Given the description of an element on the screen output the (x, y) to click on. 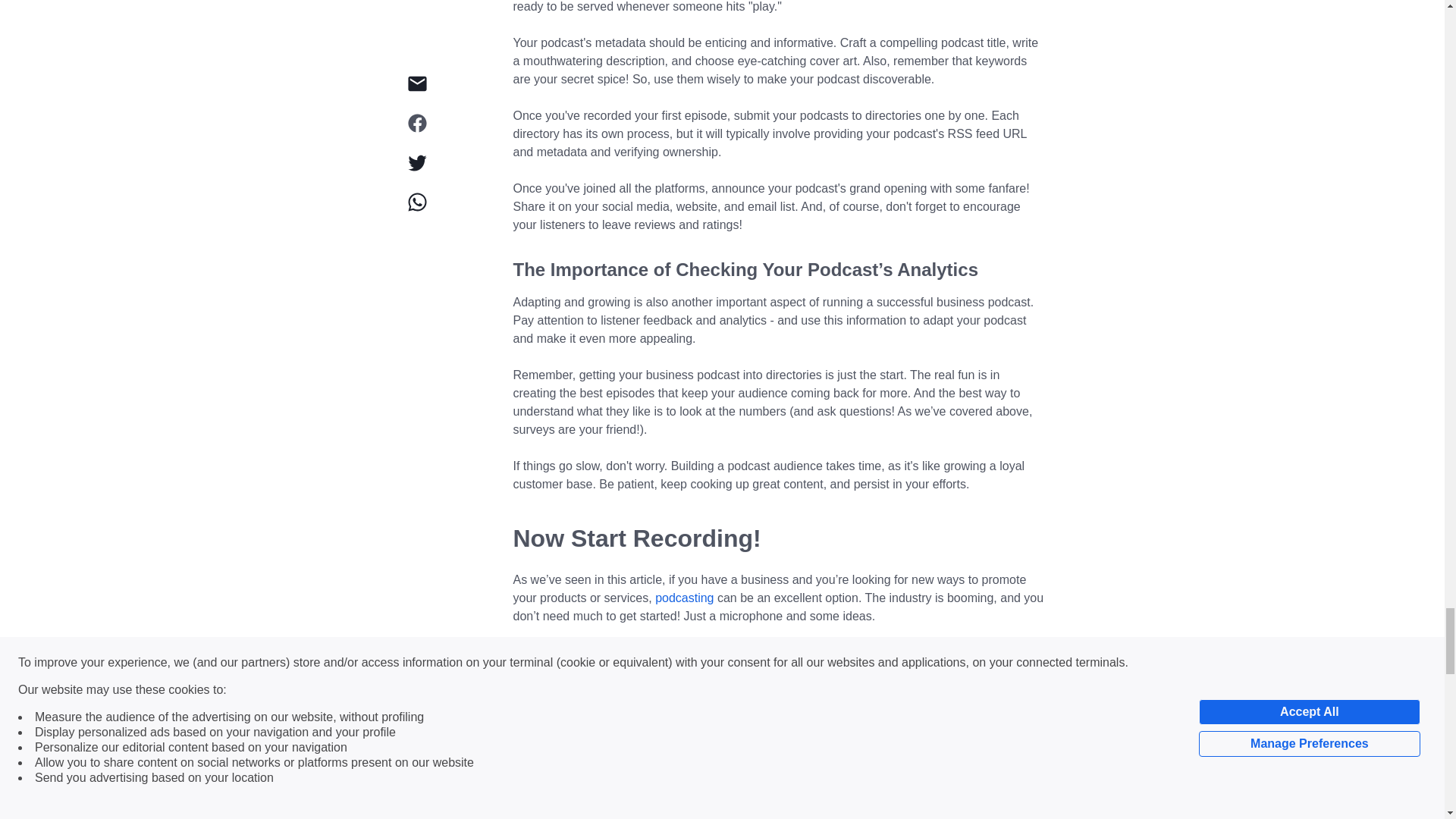
get StreamYard for free (707, 779)
podcasting (684, 597)
learn more about our business solutions. (769, 814)
StreamYard (544, 725)
